Given the description of an element on the screen output the (x, y) to click on. 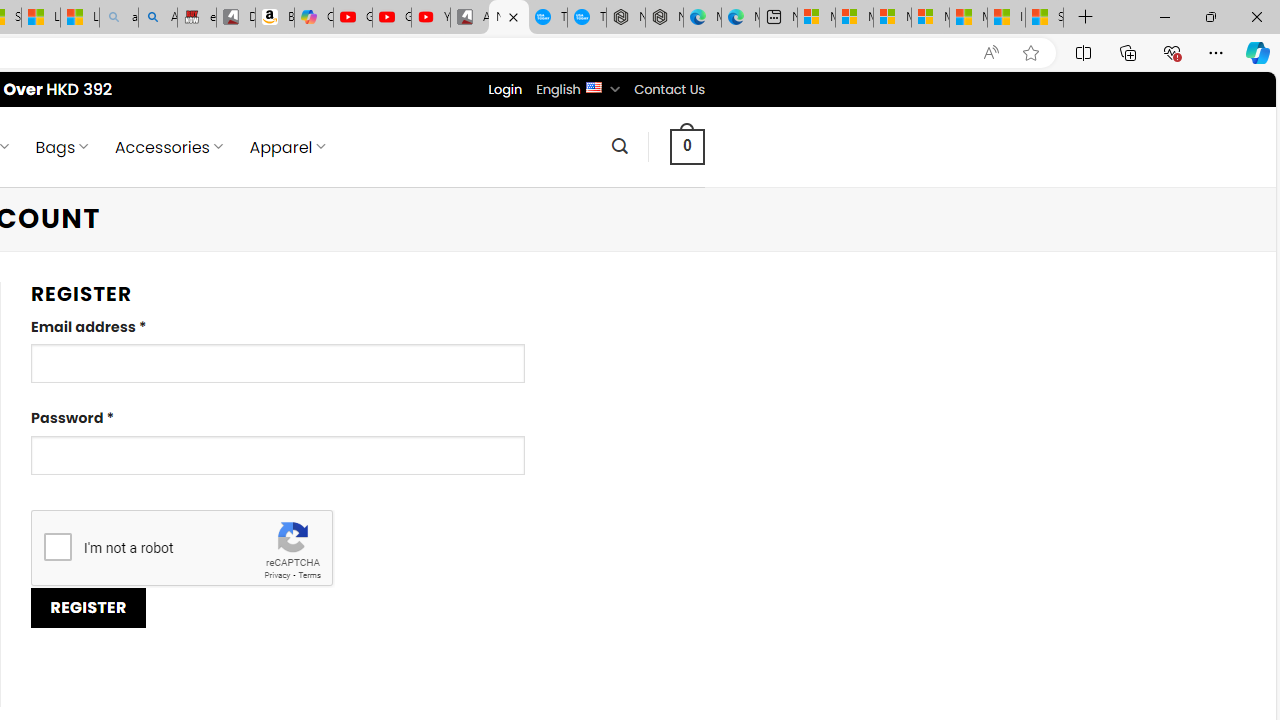
Copilot (313, 17)
Nordace - Nordace has arrived Hong Kong (664, 17)
amazon - Search - Sleeping (118, 17)
The most popular Google 'how to' searches (586, 17)
Nordace - My Account (509, 17)
